Given the description of an element on the screen output the (x, y) to click on. 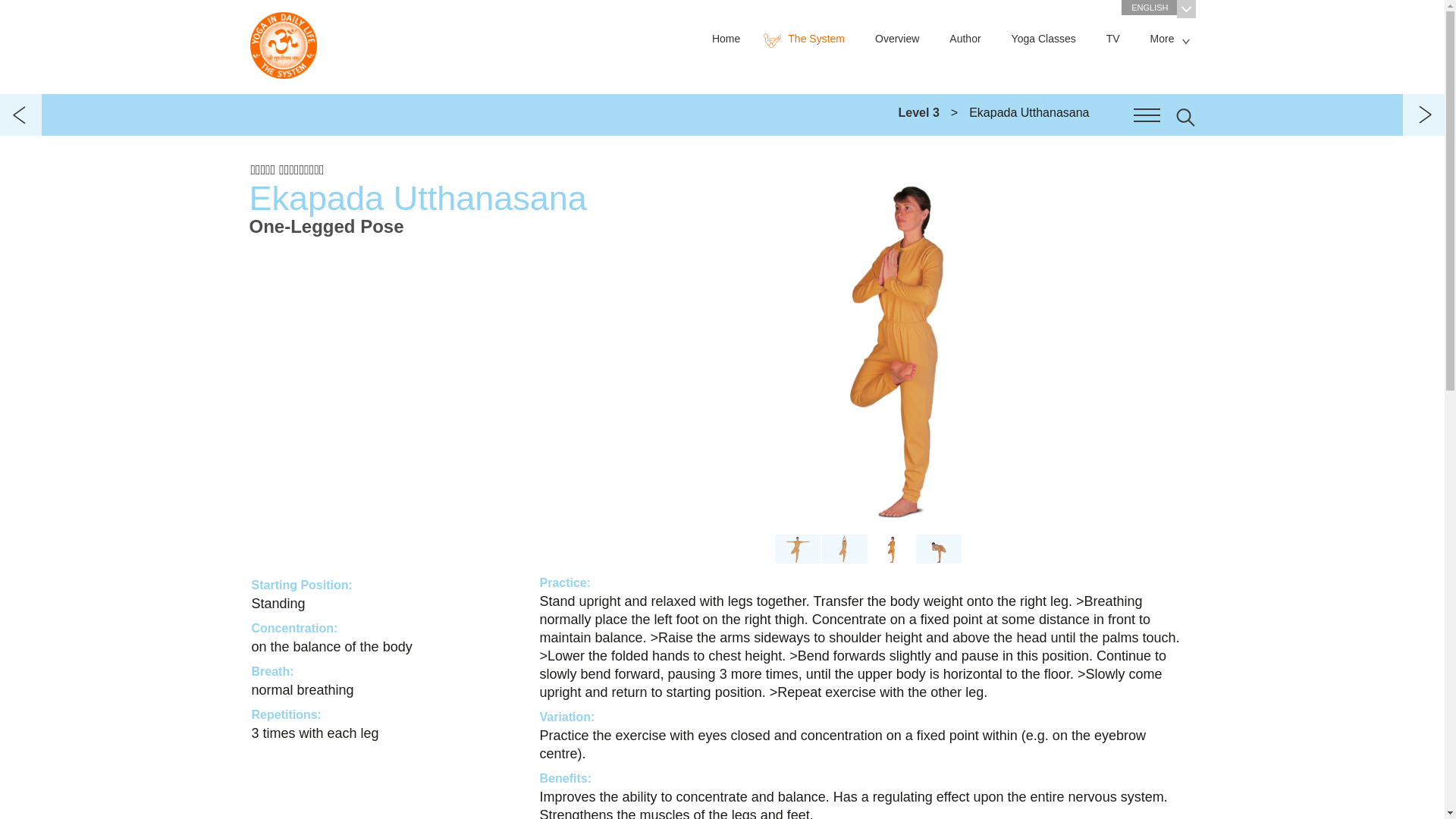
The System (806, 38)
TV (1112, 38)
TV (1112, 38)
Home (729, 38)
The System (806, 38)
Overview (896, 38)
Home (729, 38)
More (1164, 38)
Yoga Classes (1043, 38)
Overview (896, 38)
previous (21, 114)
Author (965, 38)
ENGLISH (1158, 7)
Author (965, 38)
Level 3 (918, 112)
